Given the description of an element on the screen output the (x, y) to click on. 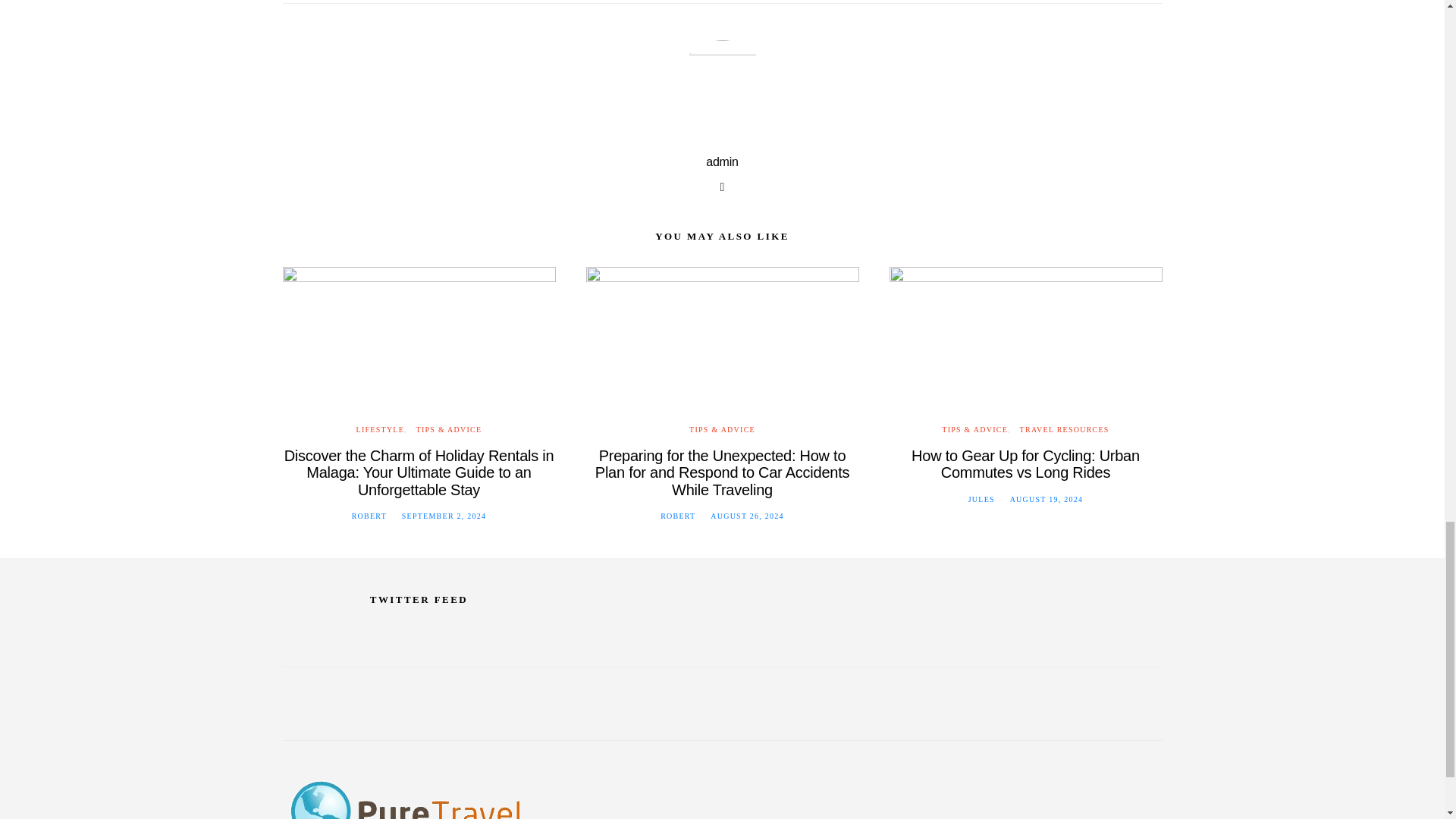
View all posts by Robert (369, 515)
View all posts by Jules (981, 499)
View all posts by Robert (678, 515)
